Given the description of an element on the screen output the (x, y) to click on. 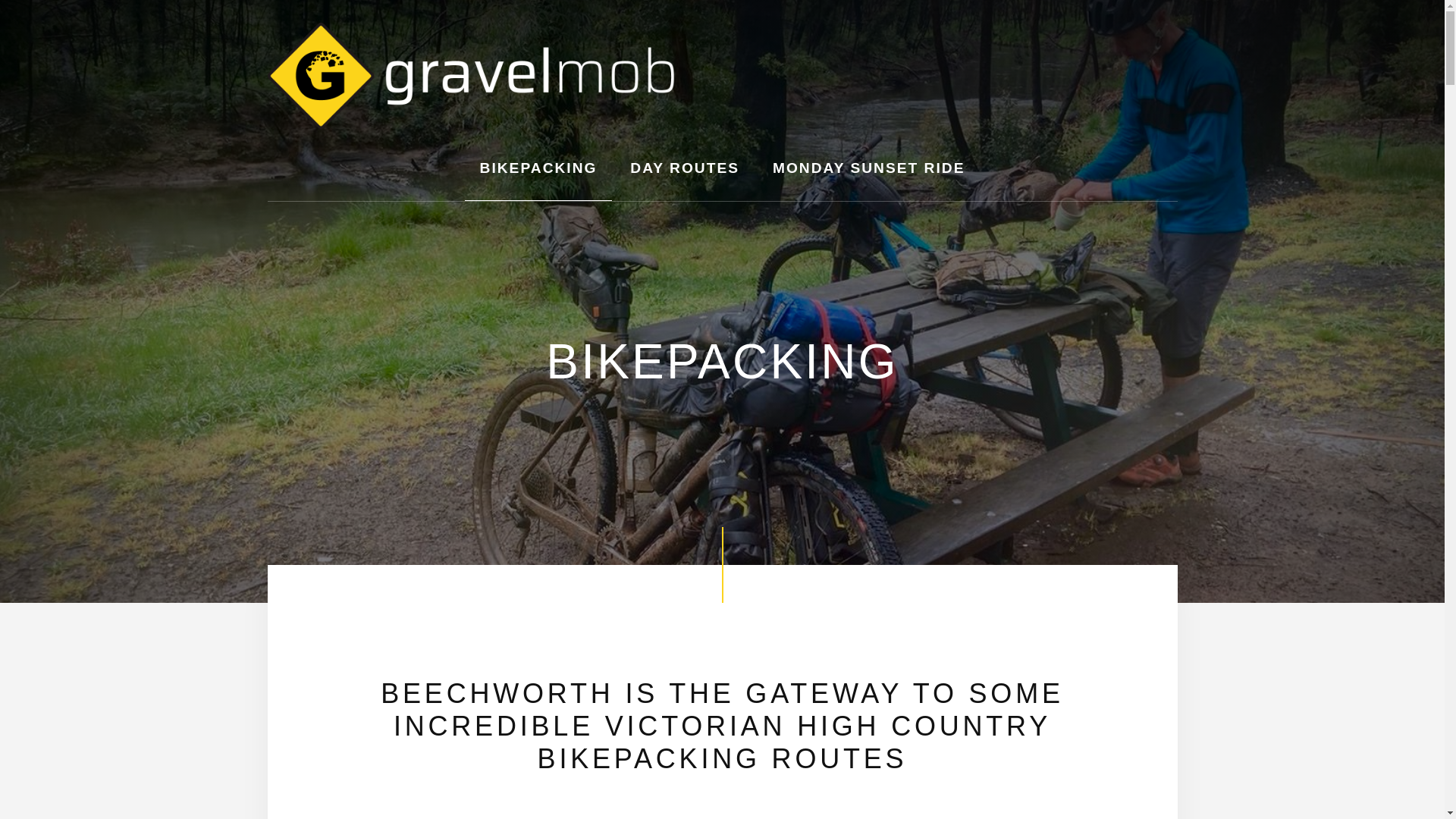
Skip to content Element type: text (0, 0)
MONDAY SUNSET RIDE Element type: text (868, 168)
BIKEPACKING Element type: text (538, 168)
DAY ROUTES Element type: text (684, 168)
